Given the description of an element on the screen output the (x, y) to click on. 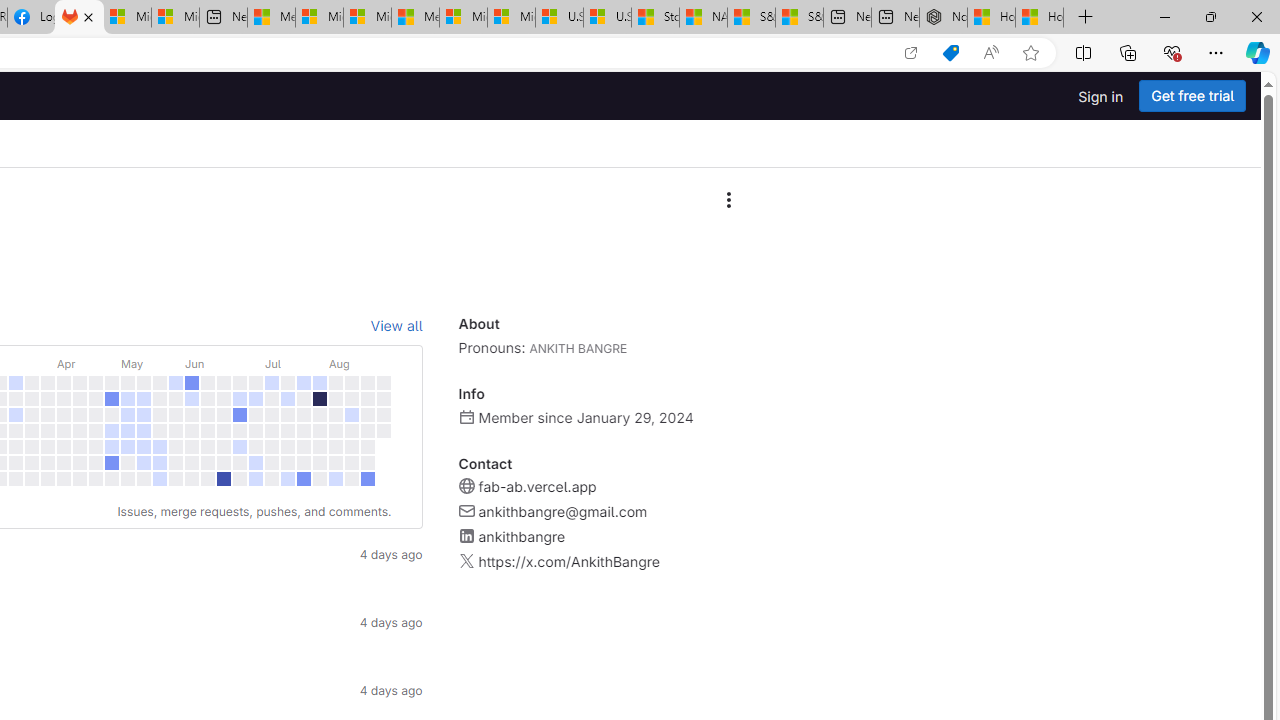
How to Use a Monitor With Your Closed Laptop (1039, 17)
